Given the description of an element on the screen output the (x, y) to click on. 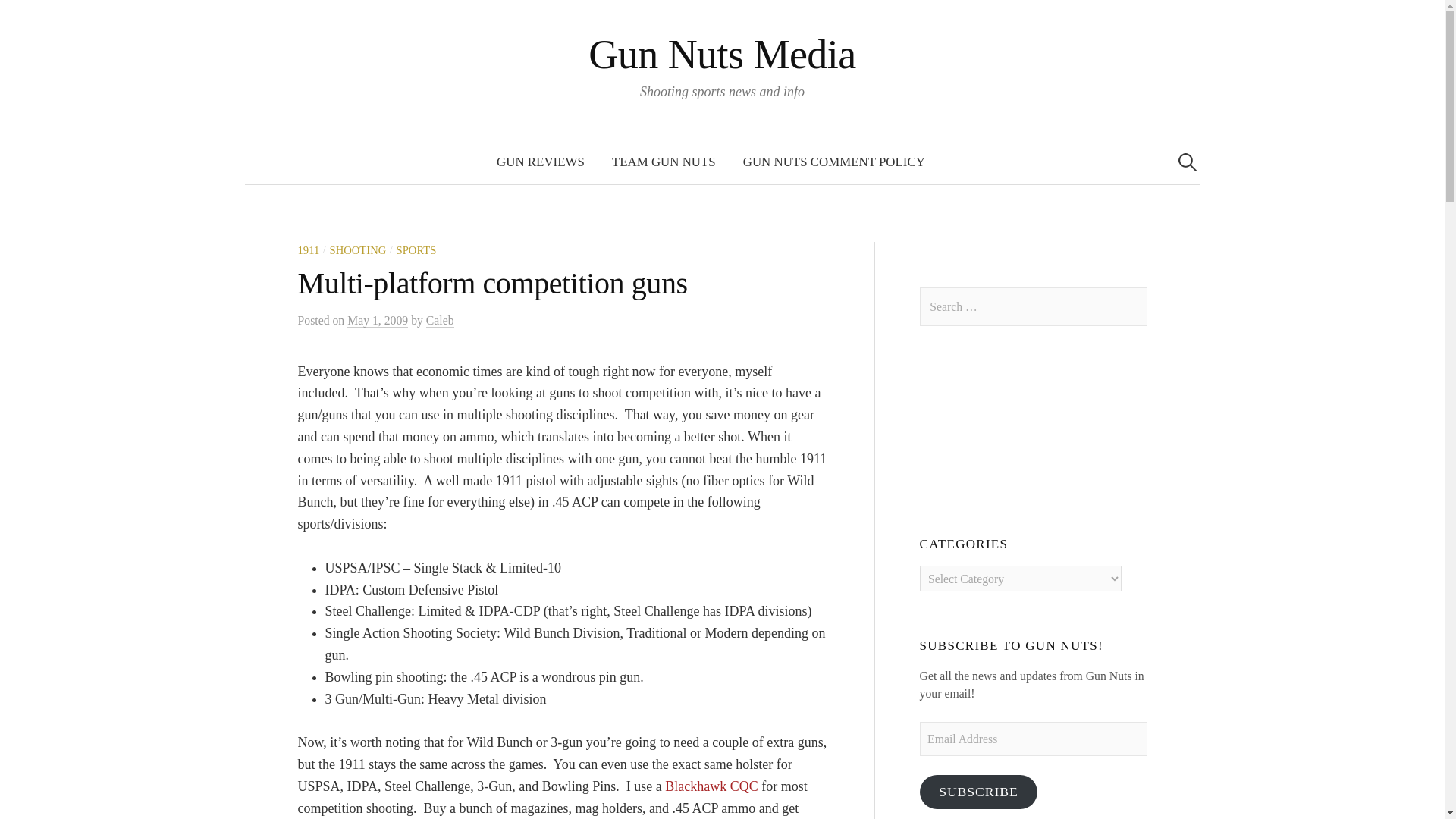
Search (40, 18)
GUN NUTS COMMENT POLICY (834, 162)
Search (18, 18)
Blackhawk CQC (711, 785)
SUBSCRIBE (979, 791)
SHOOTING (358, 250)
GUN REVIEWS (540, 162)
Caleb (440, 320)
1911 (307, 250)
Gun Nuts Media (722, 53)
